Given the description of an element on the screen output the (x, y) to click on. 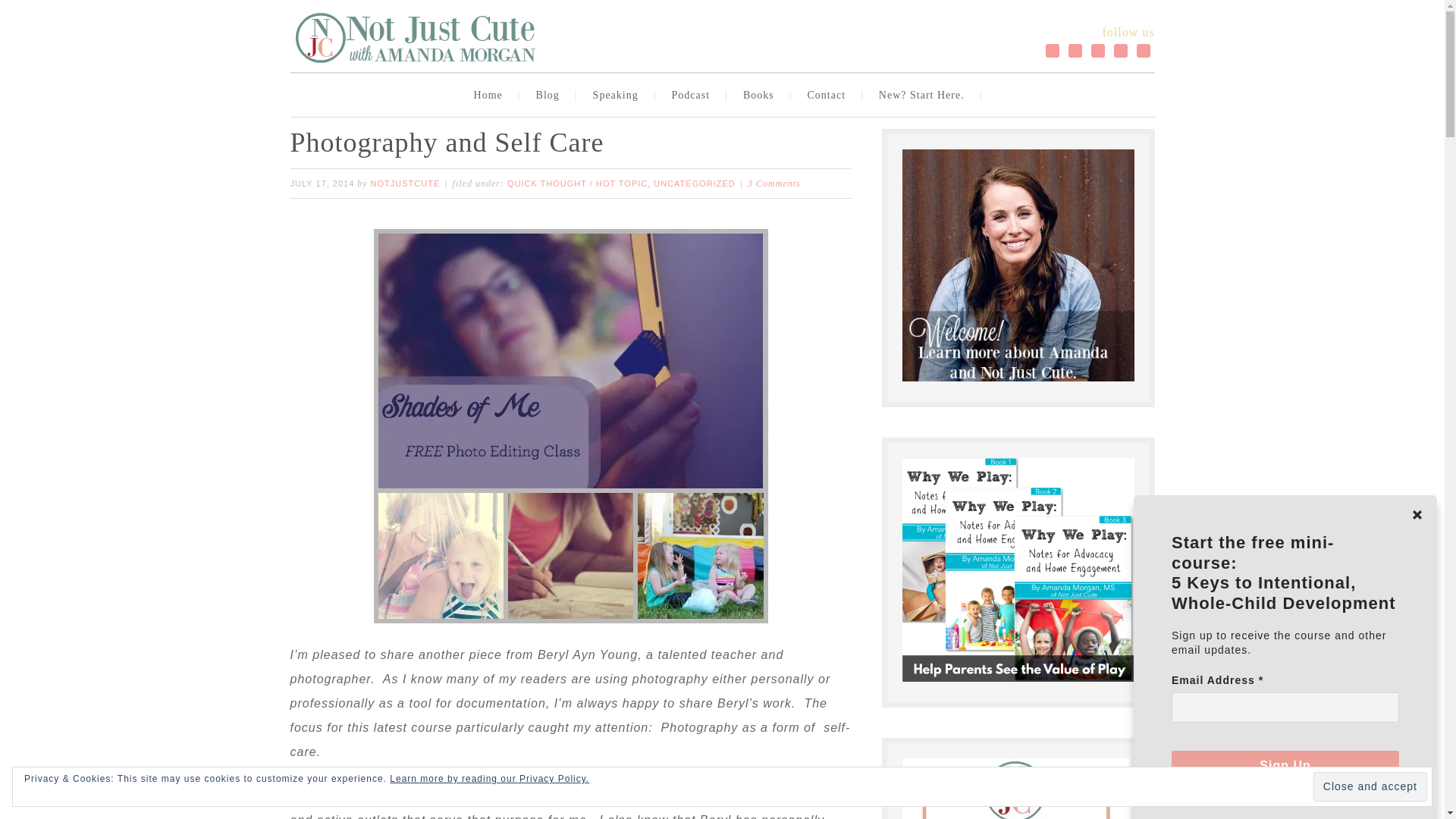
Home (492, 95)
Speaking (618, 95)
3 Comments (774, 183)
Close and accept (1369, 786)
Podcast (694, 95)
New? Start Here. (924, 95)
Close (1417, 514)
UNCATEGORIZED (694, 183)
NOTJUSTCUTE (406, 183)
Contact (829, 95)
Books (762, 95)
Blog (551, 95)
